Given the description of an element on the screen output the (x, y) to click on. 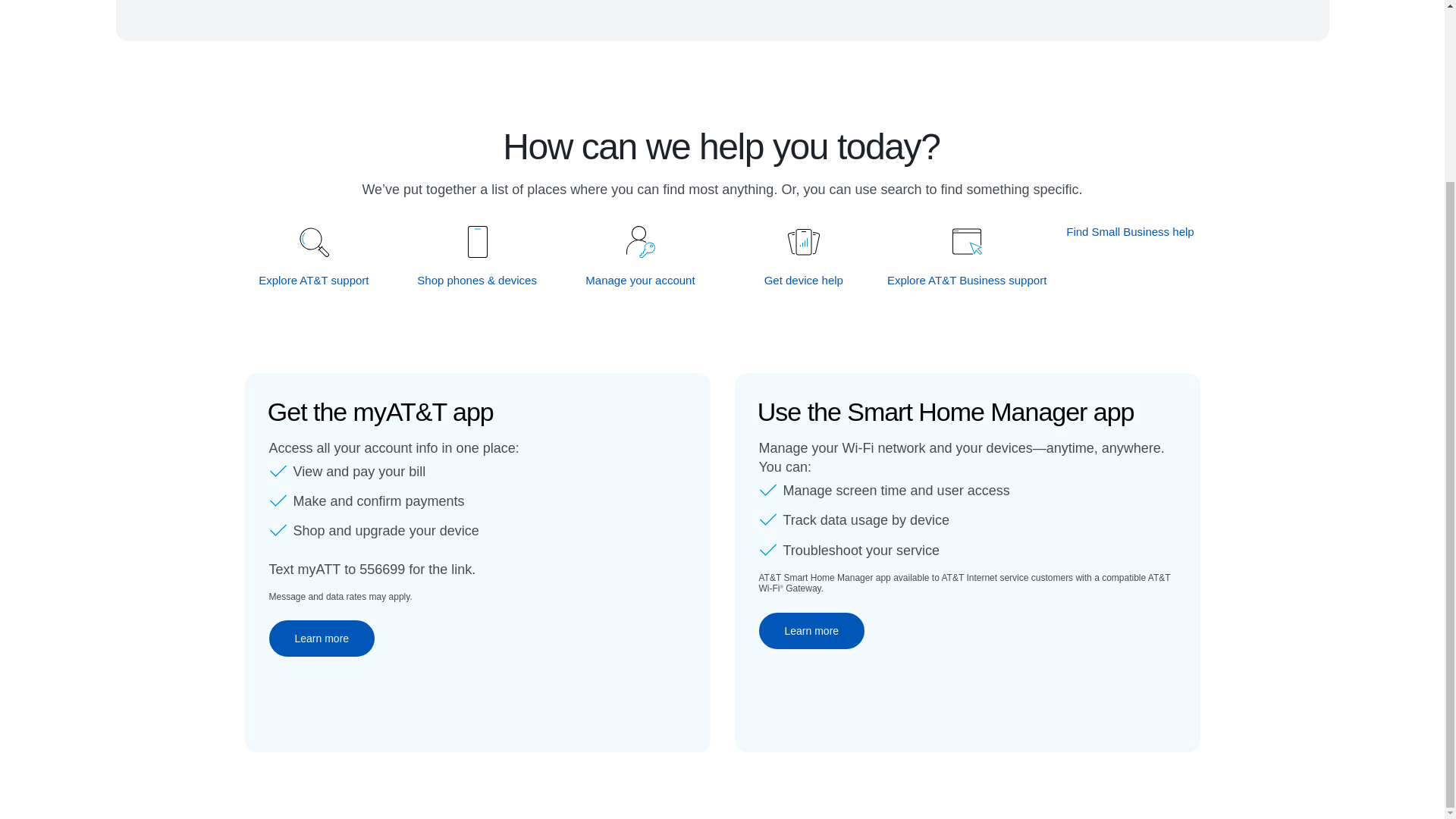
Learn more (320, 637)
Find Small Business help (1130, 231)
Get device help (803, 279)
Manage your account (640, 279)
Learn more (811, 630)
